Given the description of an element on the screen output the (x, y) to click on. 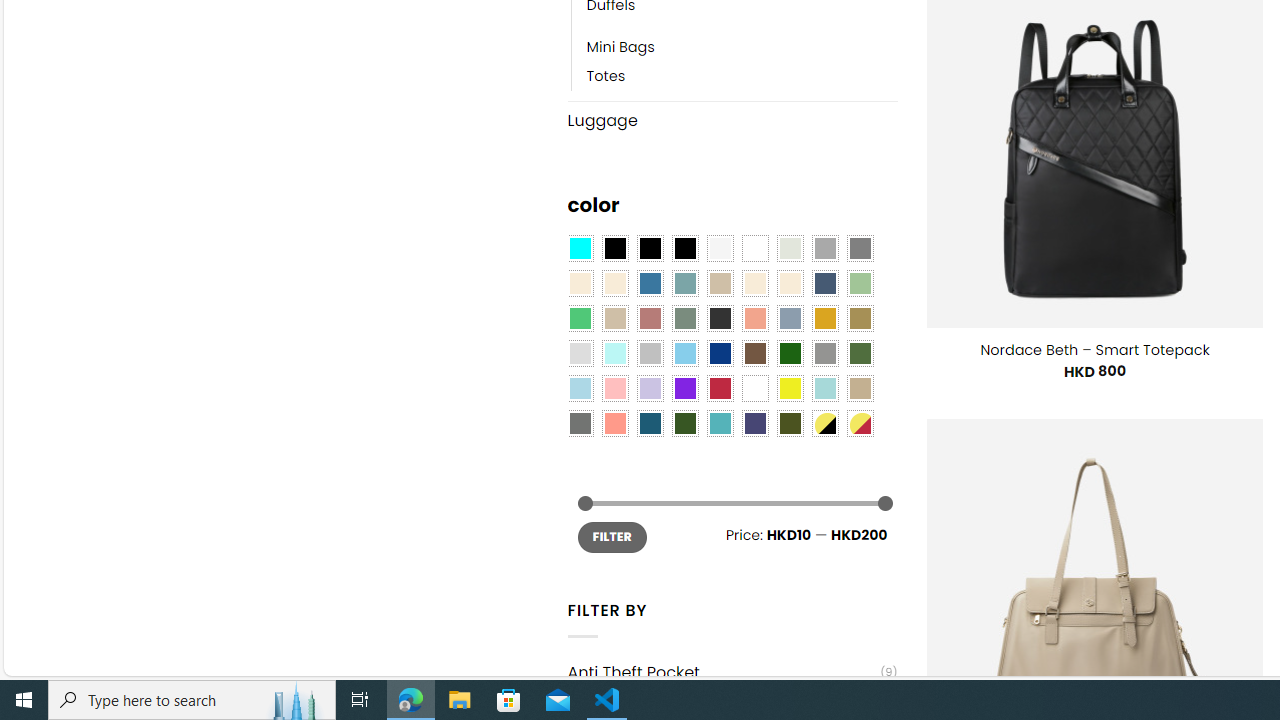
Army Green (789, 424)
Ash Gray (789, 249)
Coral (755, 318)
Luggage (732, 119)
Gold (824, 318)
Forest (684, 424)
Red (719, 388)
All Gray (859, 249)
Peach Pink (614, 424)
Mint (614, 354)
Gray (824, 354)
Purple Navy (755, 424)
Silver (650, 354)
Charcoal (719, 318)
Dark Gray (824, 249)
